Given the description of an element on the screen output the (x, y) to click on. 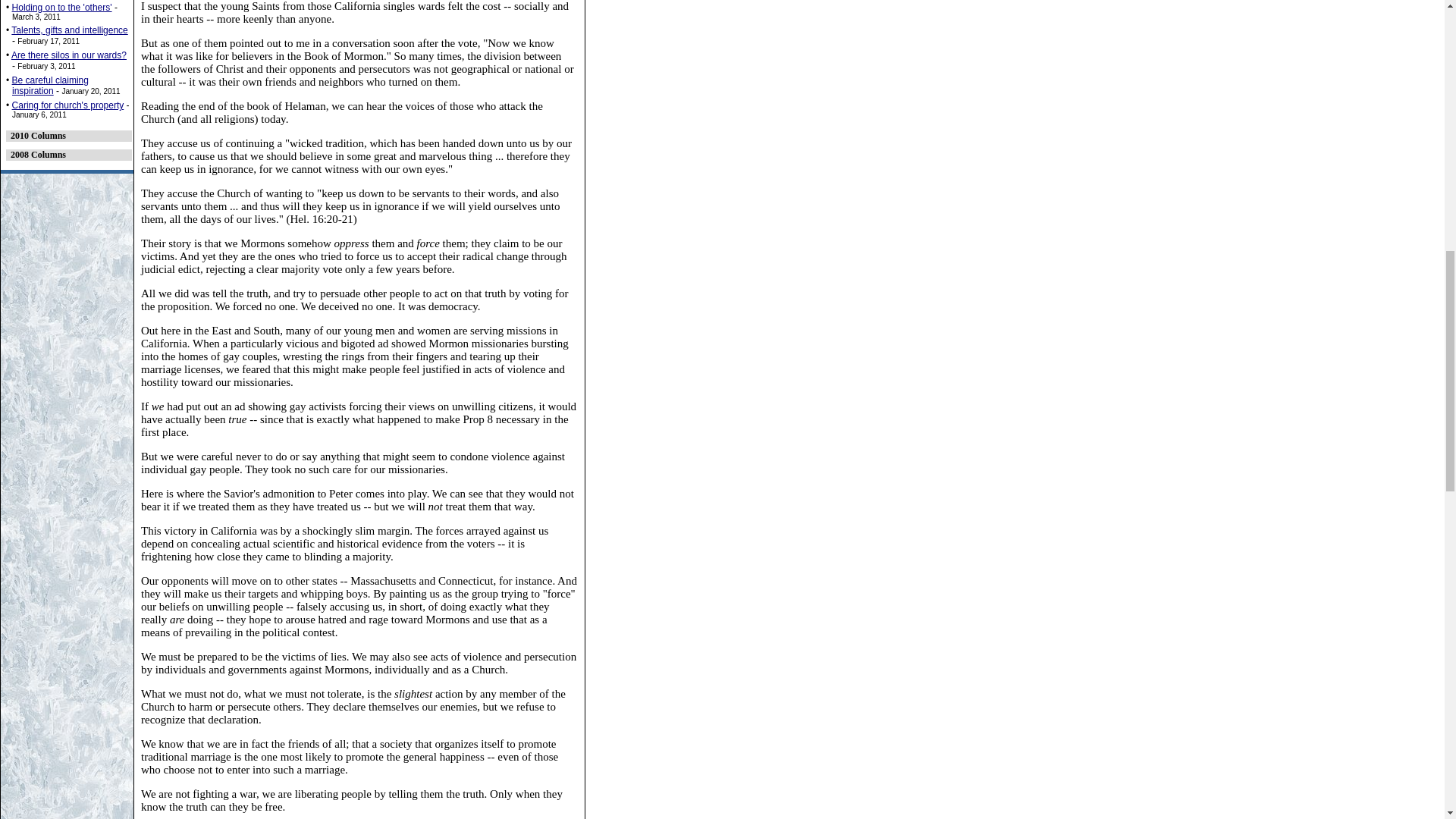
Talents, gifts and intelligence (69, 30)
Are there silos in our wards? (68, 54)
Caring for church's property (67, 104)
Be careful claiming inspiration (49, 85)
Holding on to the 'others' (61, 7)
